Given the description of an element on the screen output the (x, y) to click on. 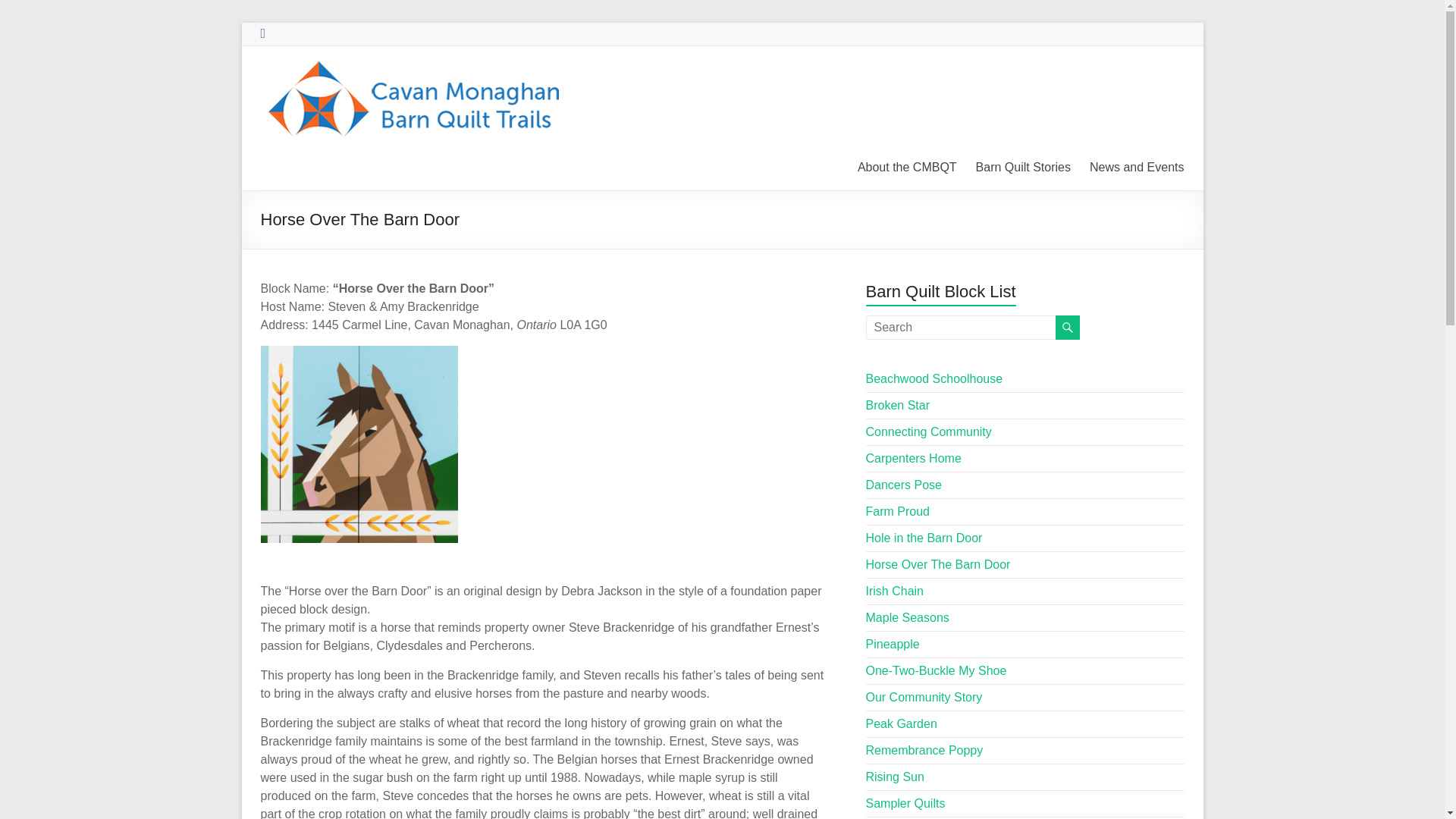
Remembrance Poppy (925, 749)
Maple Seasons (907, 617)
Pineapple (893, 644)
CMBQT (308, 77)
Farm Proud (898, 511)
Sampler Quilts (905, 802)
Carpenters Home (913, 458)
Our Community Story (924, 697)
Dancers Pose (904, 484)
Broken Star (898, 404)
Hole in the Barn Door (924, 537)
About the CMBQT (906, 167)
Irish Chain (894, 590)
Horse Over The Barn Door (938, 563)
